Given the description of an element on the screen output the (x, y) to click on. 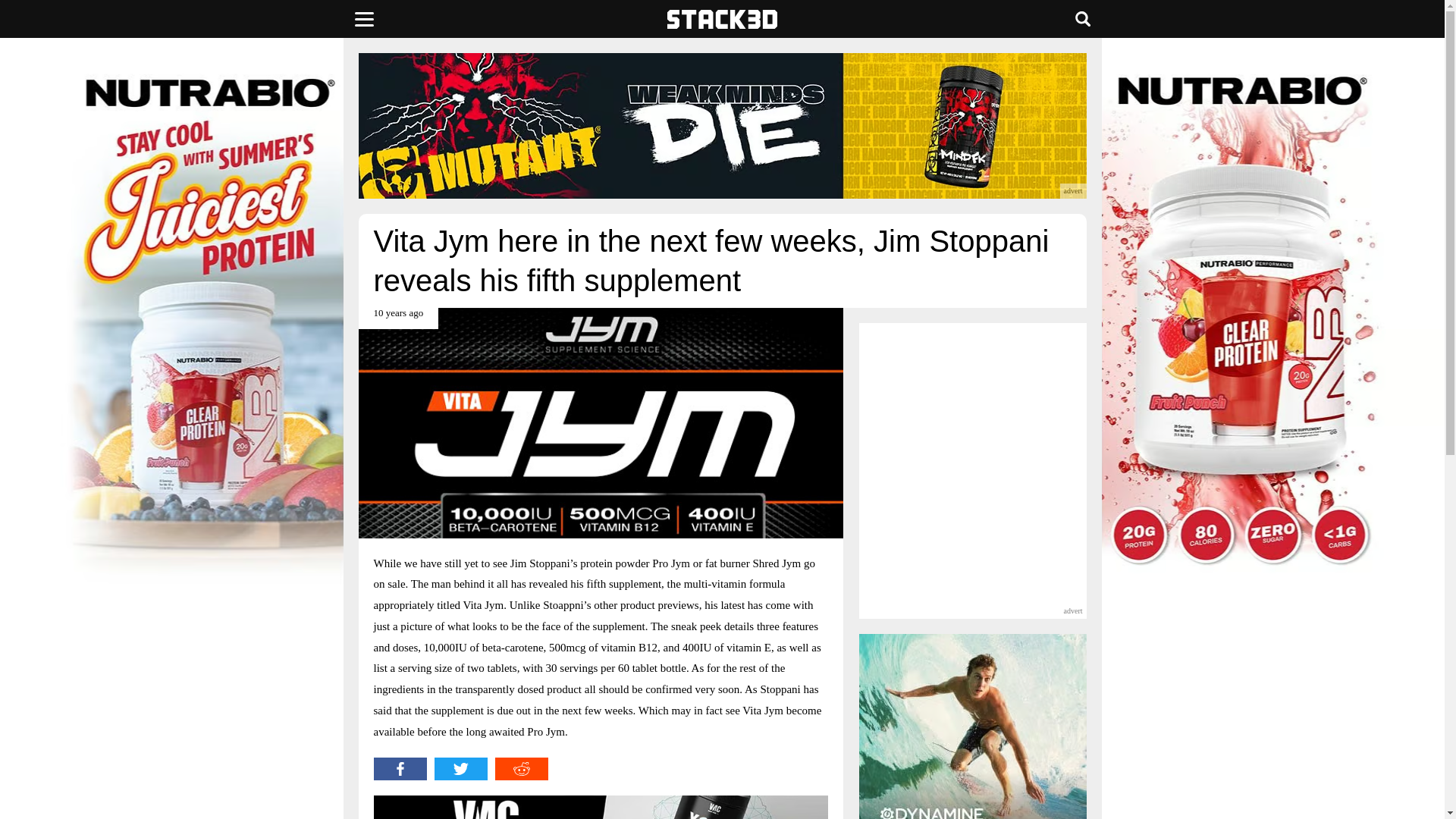
April 8th 2014 (398, 318)
